Given the description of an element on the screen output the (x, y) to click on. 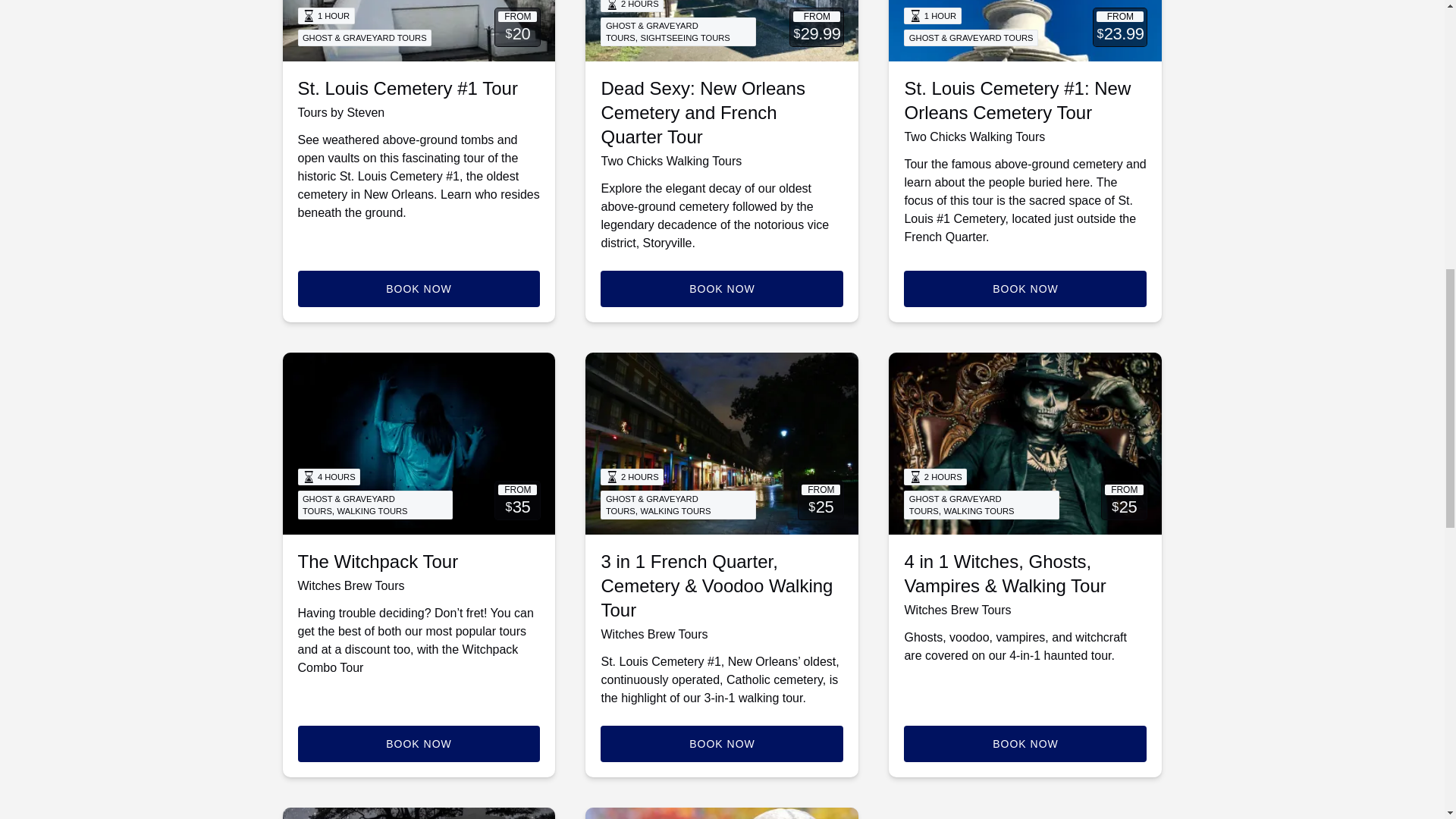
BOOK NOW (1025, 289)
Witches Brew Tours (350, 585)
FareHarbor (1342, 64)
Dead Sexy: New Orleans Cemetery and French Quarter Tour (702, 112)
BOOK NOW (418, 743)
BOOK NOW (721, 289)
Two Chicks Walking Tours (974, 136)
The Witchpack Tour (377, 561)
activity link (418, 30)
activity link (1024, 30)
activity link (722, 443)
BOOK NOW (418, 289)
activity link (722, 30)
activity link (418, 443)
Two Chicks Walking Tours (670, 160)
